Given the description of an element on the screen output the (x, y) to click on. 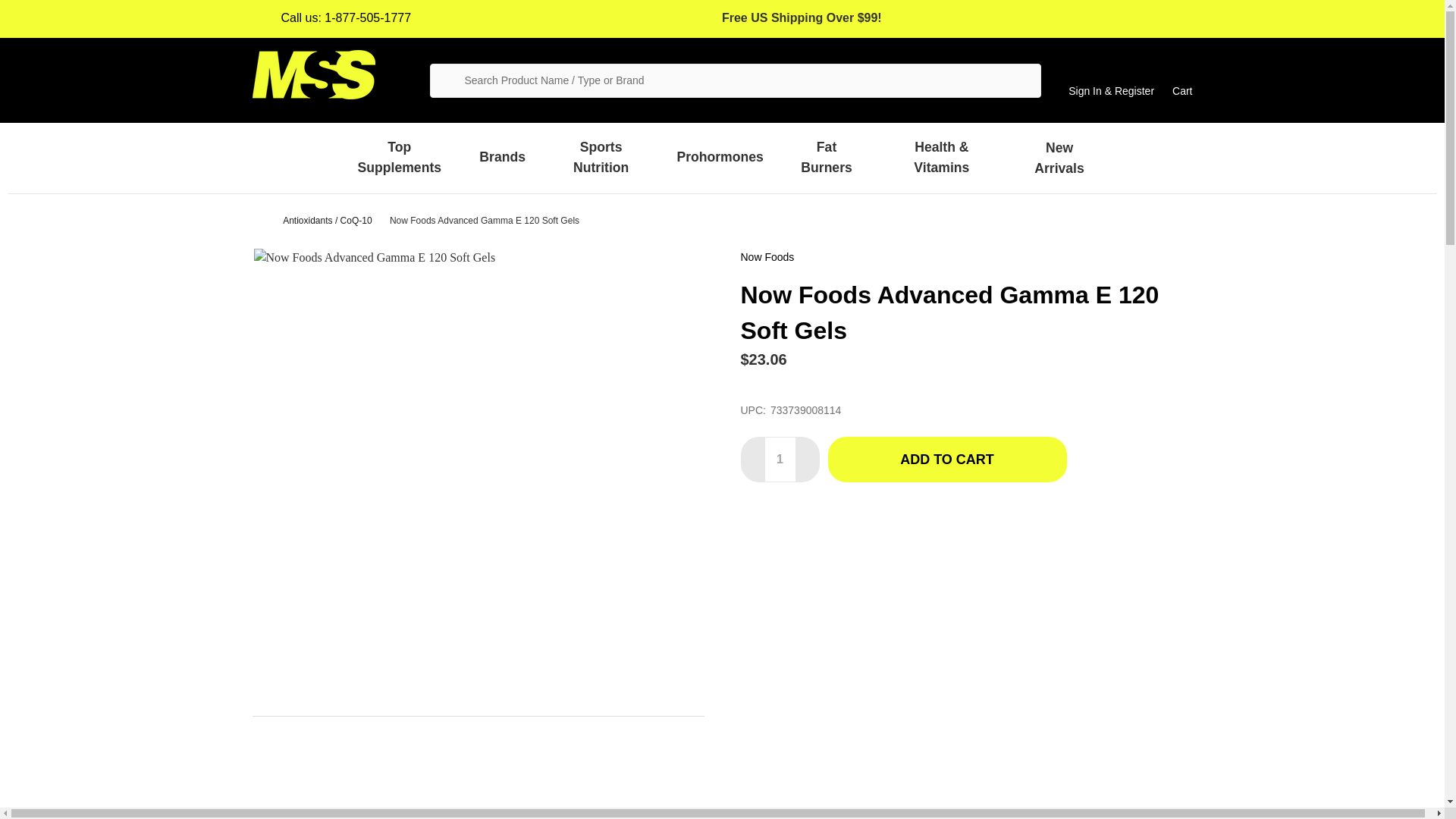
Top Supplements (398, 156)
Top Supplements (398, 156)
My Supplement Store (312, 74)
Brands (502, 156)
Call us: 1-877-505-1777 (330, 17)
Sports Nutrition (601, 156)
Brands (502, 156)
